Given the description of an element on the screen output the (x, y) to click on. 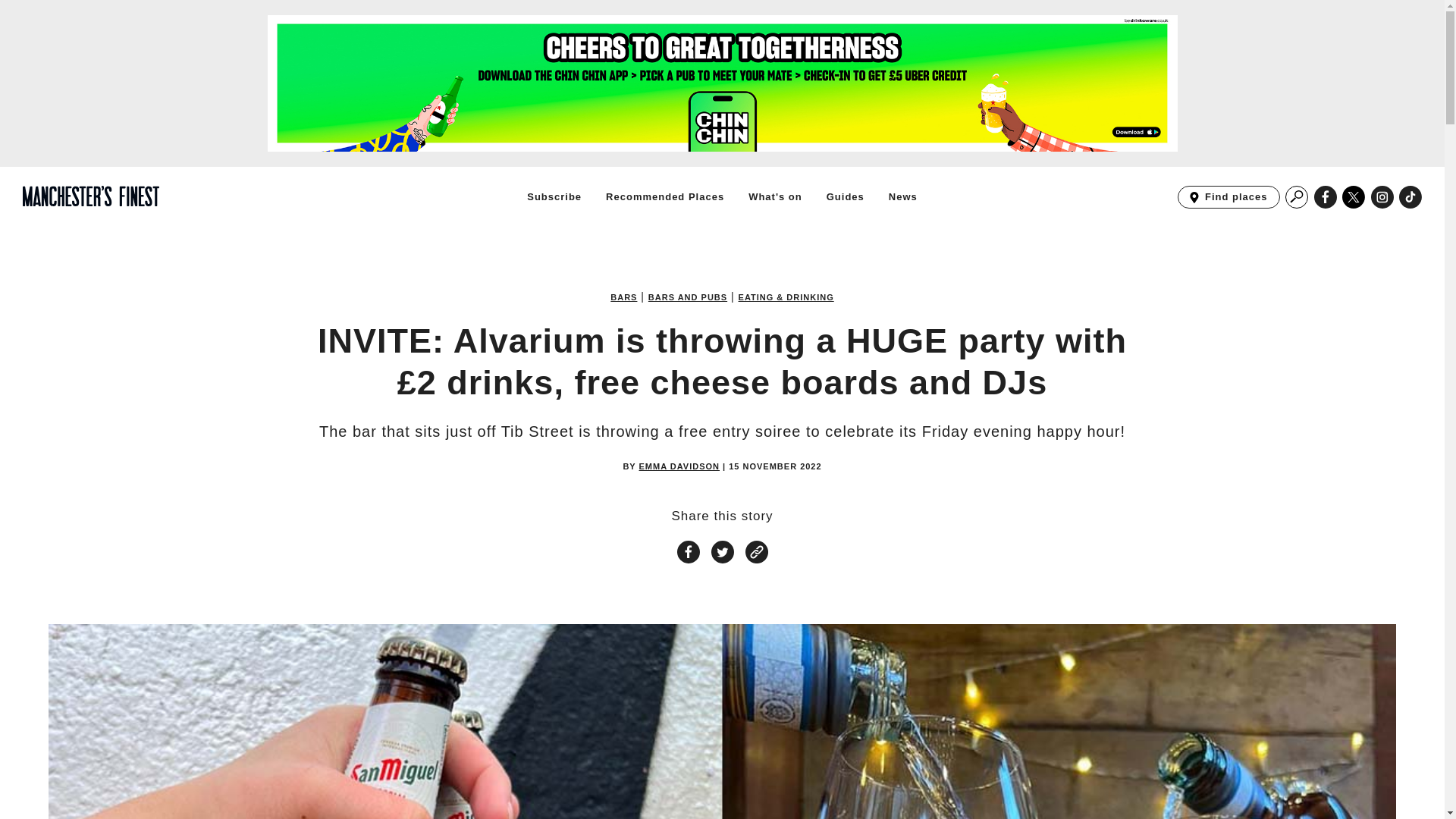
Go to Manchester's Finest Instagram profile (1382, 196)
Search Manchester's Finest (1296, 196)
EMMA DAVIDSON (679, 466)
BARS AND PUBS (1228, 196)
Go to Manchester's Finest X profile (686, 297)
Go to Manchester's Finest TikTok profile (1353, 196)
BARS (1410, 196)
Go to Manchester's Finest TikTok profile (623, 297)
Recommended Places (1410, 196)
Subscribe (664, 196)
What's on (553, 196)
News (775, 196)
Guides (902, 196)
Go to Manchester's Finest Facebook page (845, 196)
